Given the description of an element on the screen output the (x, y) to click on. 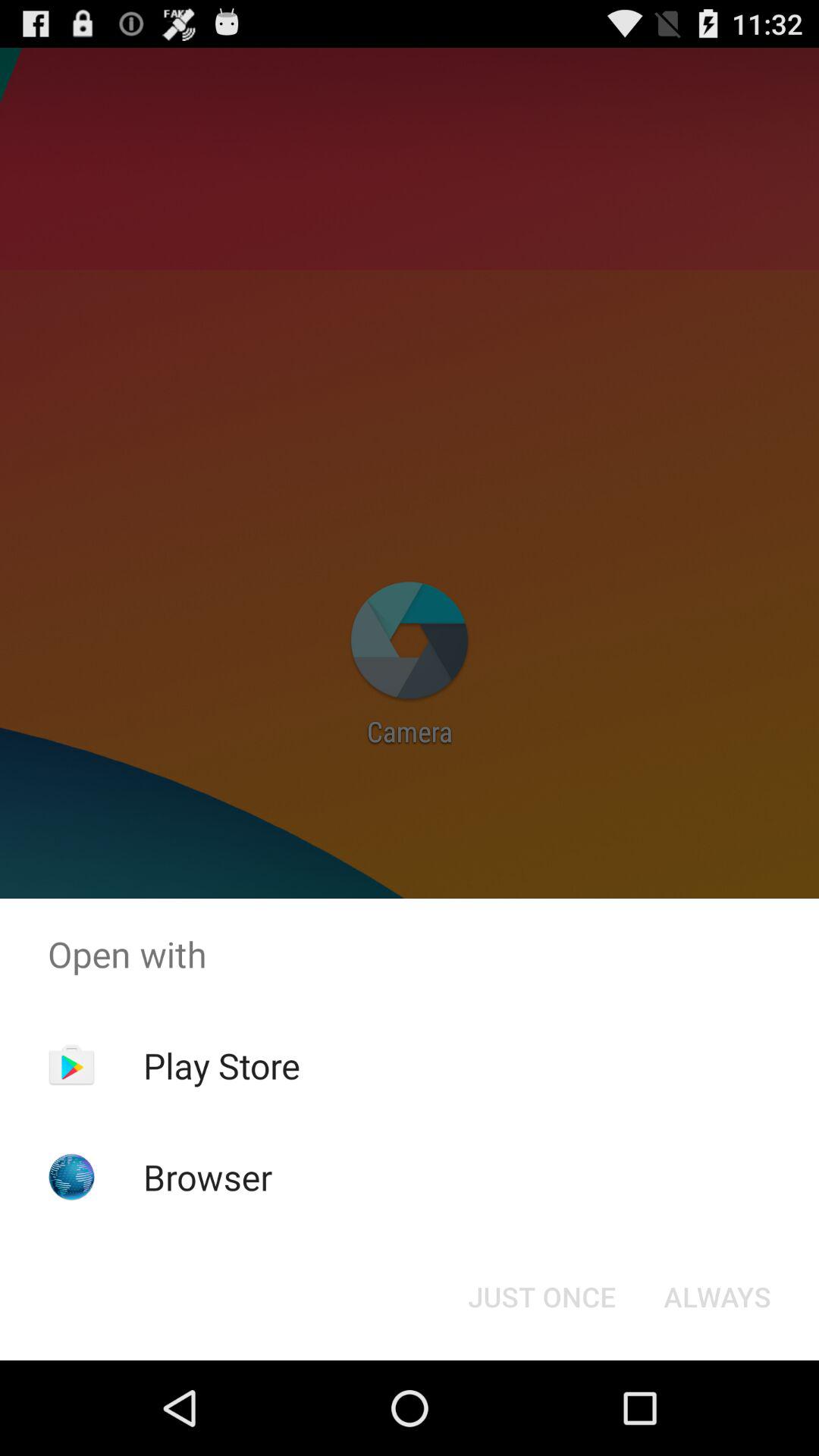
press app below the play store (207, 1176)
